Given the description of an element on the screen output the (x, y) to click on. 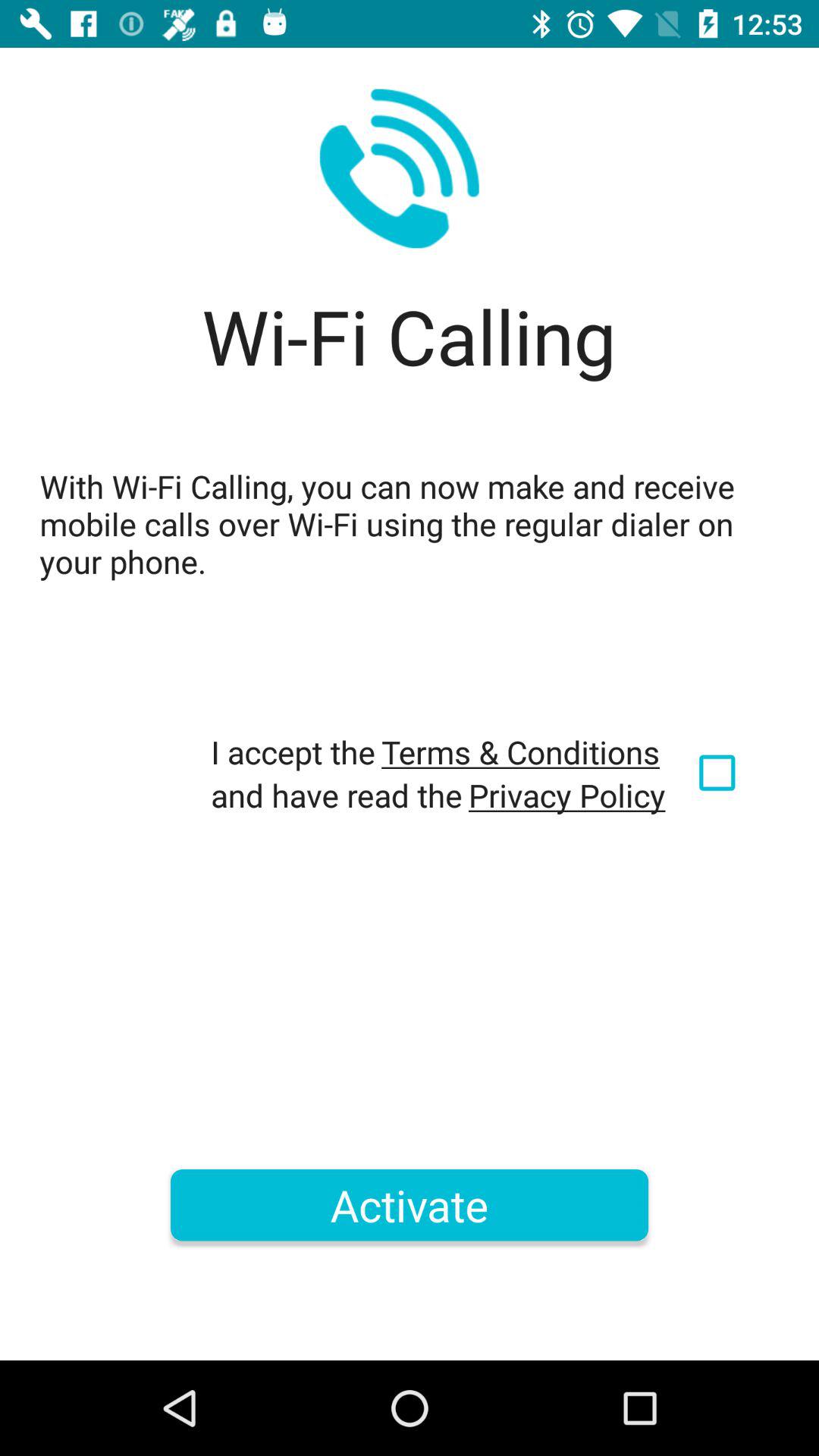
open app above wi-fi calling icon (399, 168)
